Given the description of an element on the screen output the (x, y) to click on. 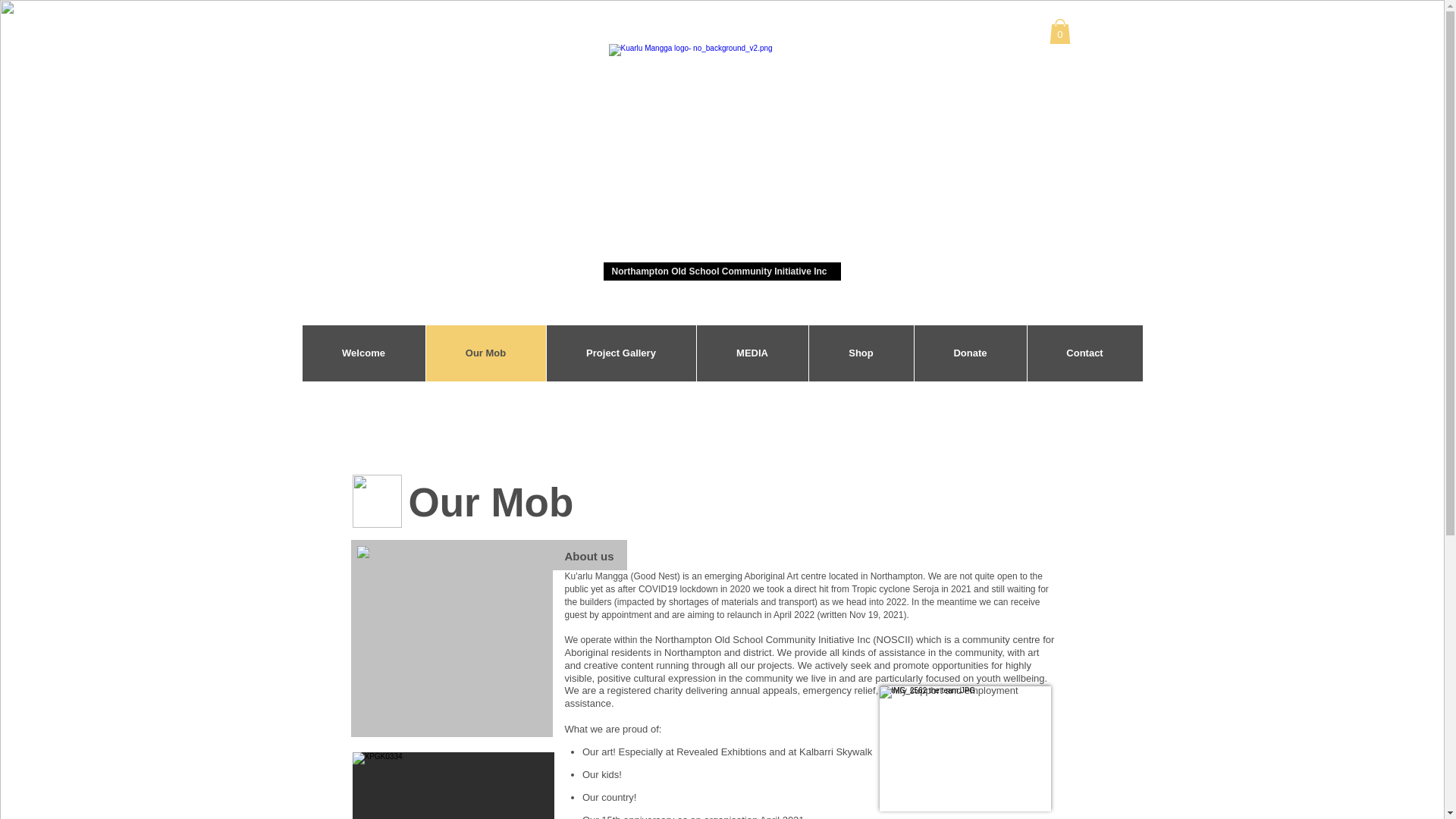
Welcome Element type: text (362, 353)
Our Mob Element type: text (484, 353)
MEDIA Element type: text (752, 353)
Project Gallery Element type: text (621, 353)
Donate Element type: text (969, 353)
Shop Element type: text (860, 353)
0 Element type: text (1059, 30)
Contact Element type: text (1084, 353)
